Given the description of an element on the screen output the (x, y) to click on. 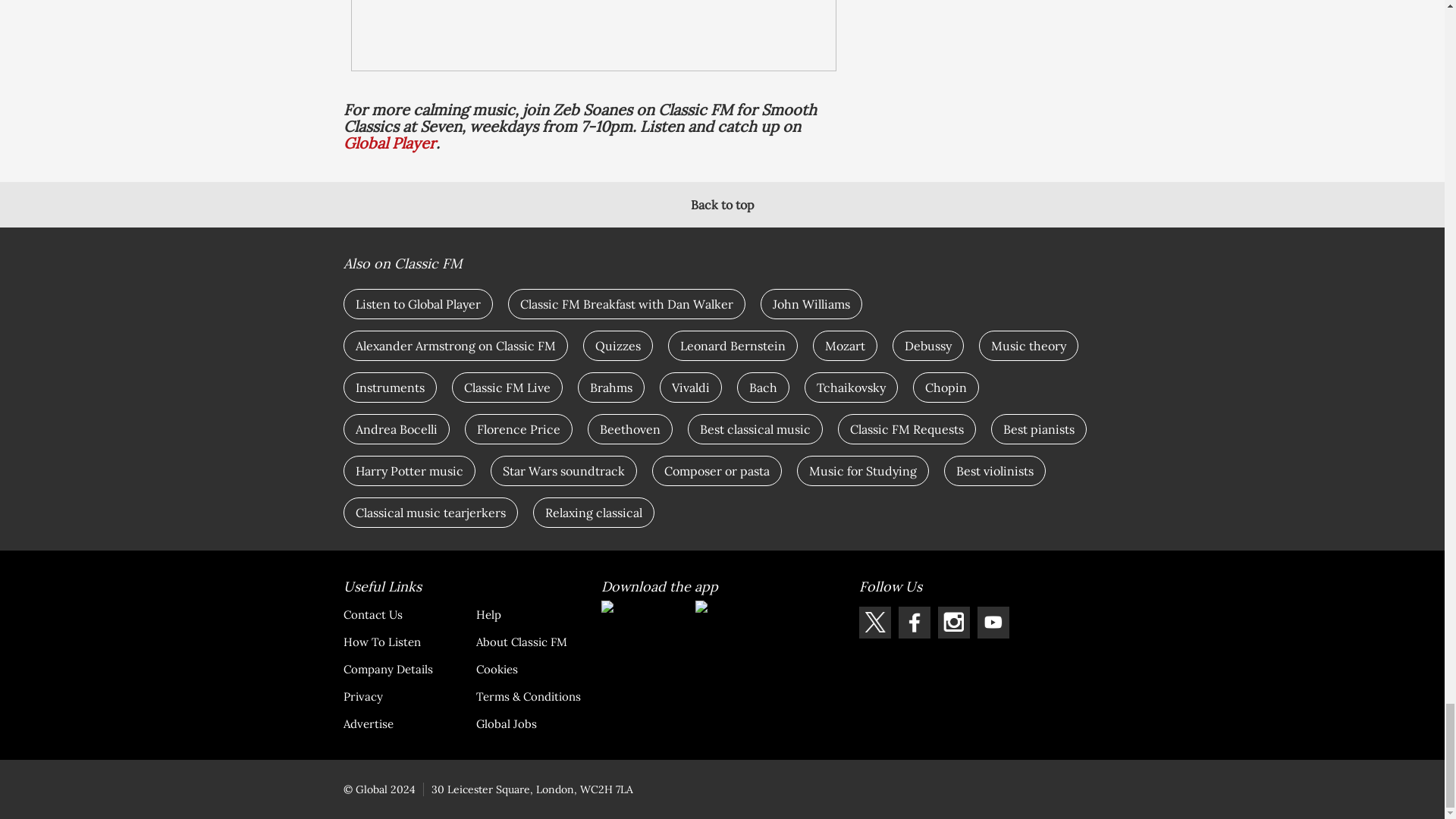
Follow Classic FM on X (874, 622)
Follow Classic FM on Youtube (992, 622)
Follow Classic FM on Facebook (914, 622)
Back to top (722, 204)
Follow Classic FM on Instagram (953, 622)
